Given the description of an element on the screen output the (x, y) to click on. 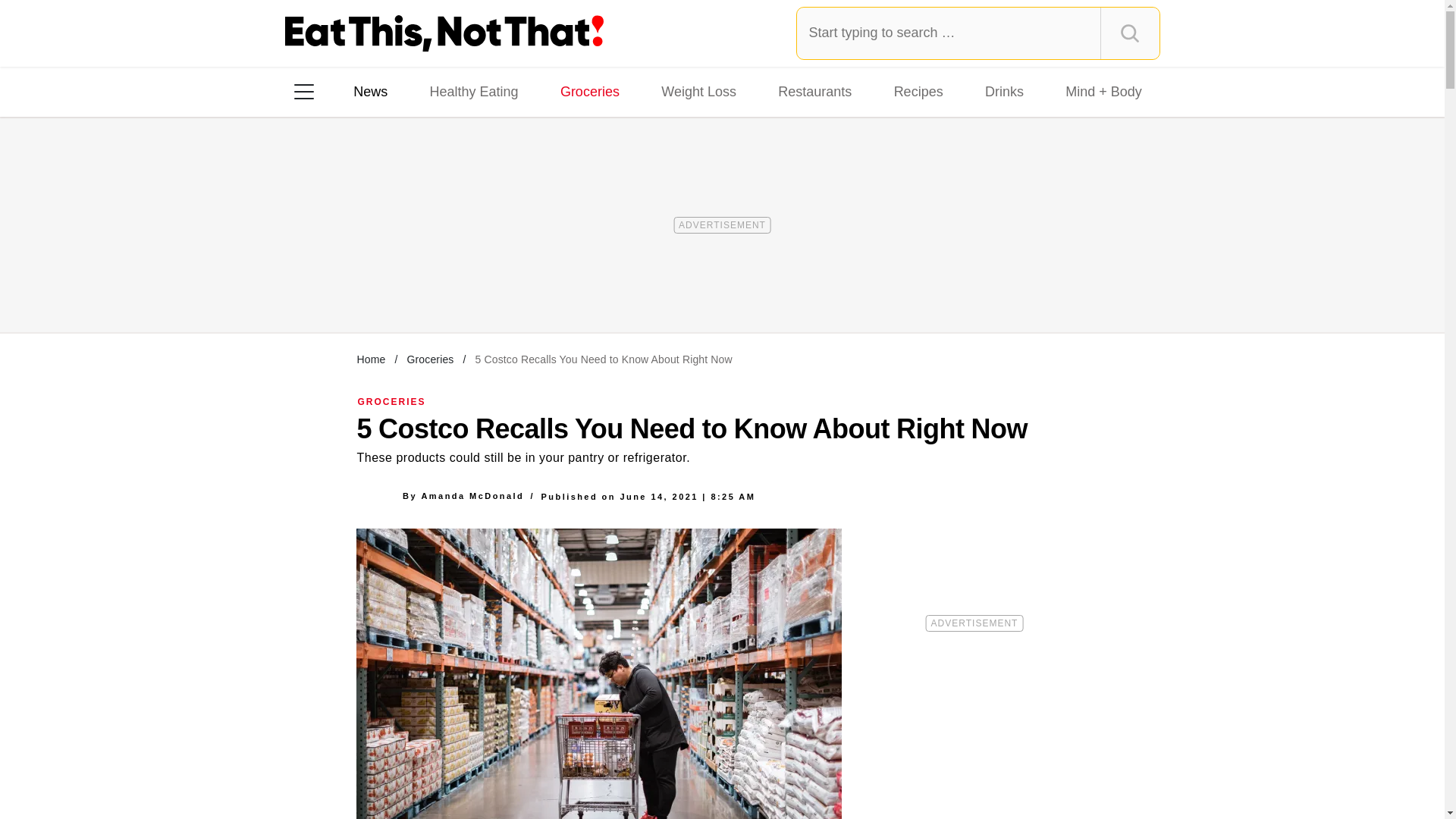
Groceries (429, 358)
Type and press Enter to search (978, 32)
Healthy Eating (473, 91)
Pinterest (443, 287)
Pinterest (443, 287)
GROCERIES (392, 401)
Amanda McDonald (472, 495)
Eat This Not That Homepage (444, 33)
Weight Loss (698, 91)
TikTok (399, 287)
